Given the description of an element on the screen output the (x, y) to click on. 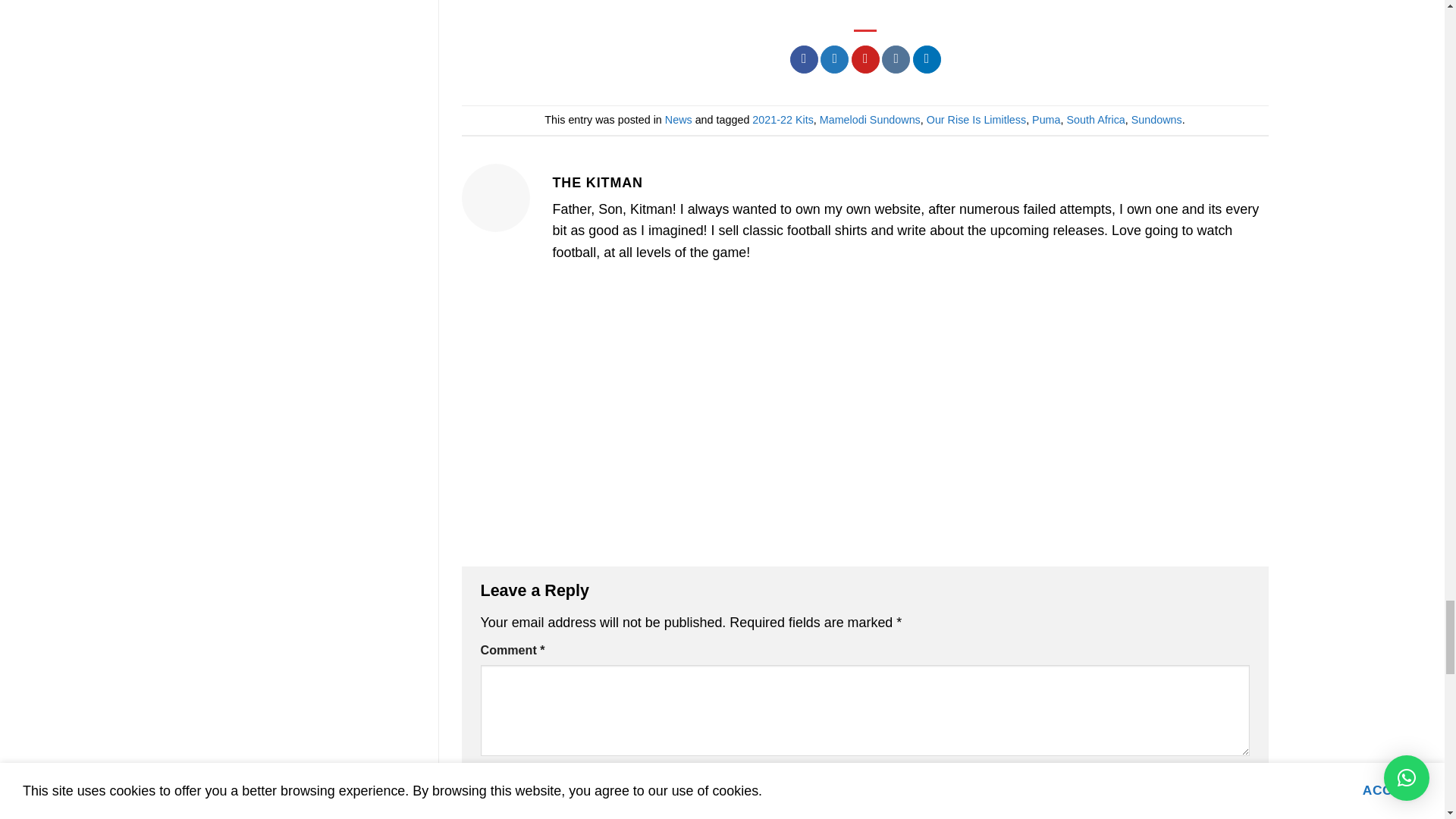
Share on Twitter (834, 59)
Share on Facebook (804, 59)
